Given the description of an element on the screen output the (x, y) to click on. 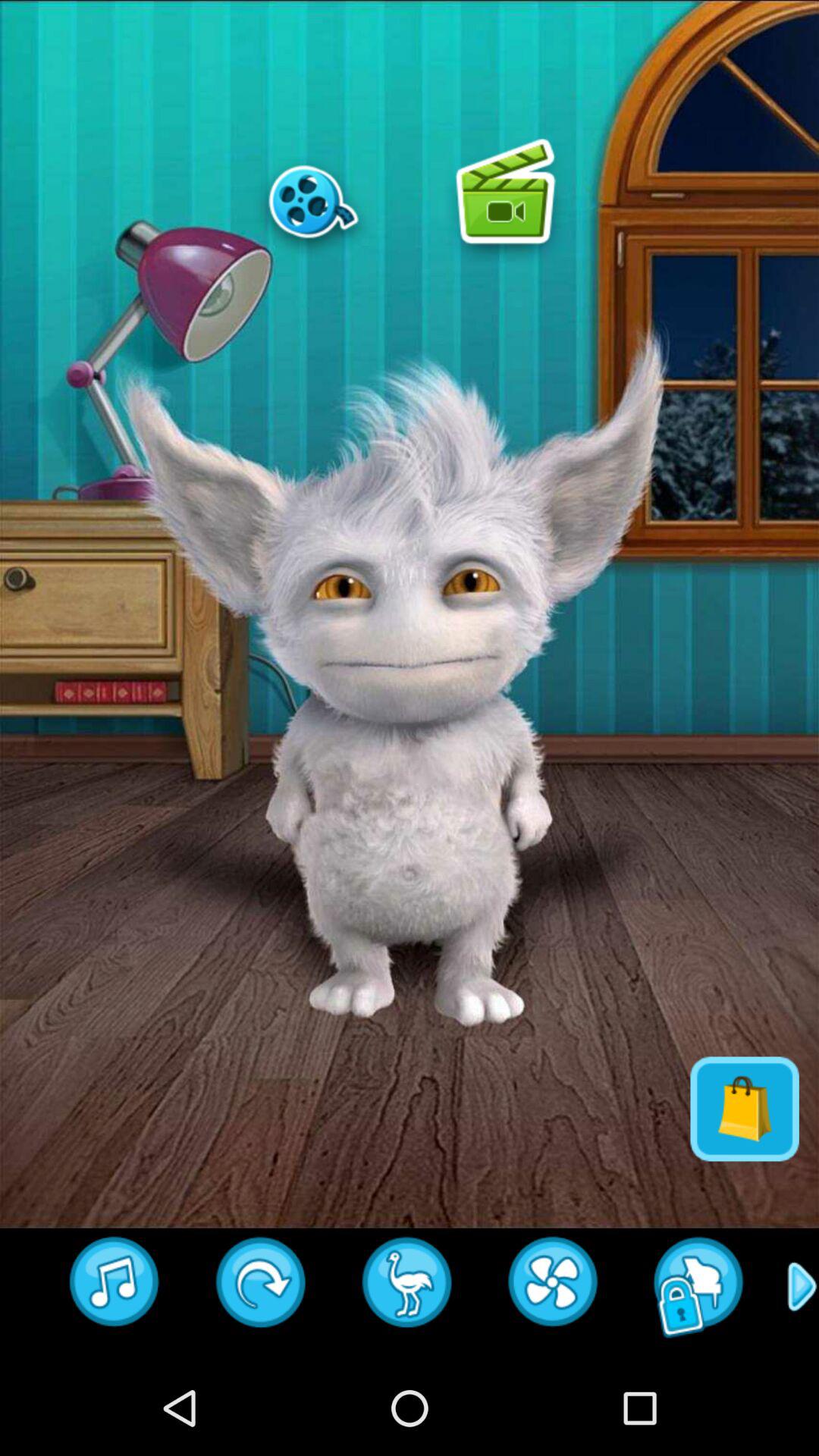
rite paga (553, 1287)
